Given the description of an element on the screen output the (x, y) to click on. 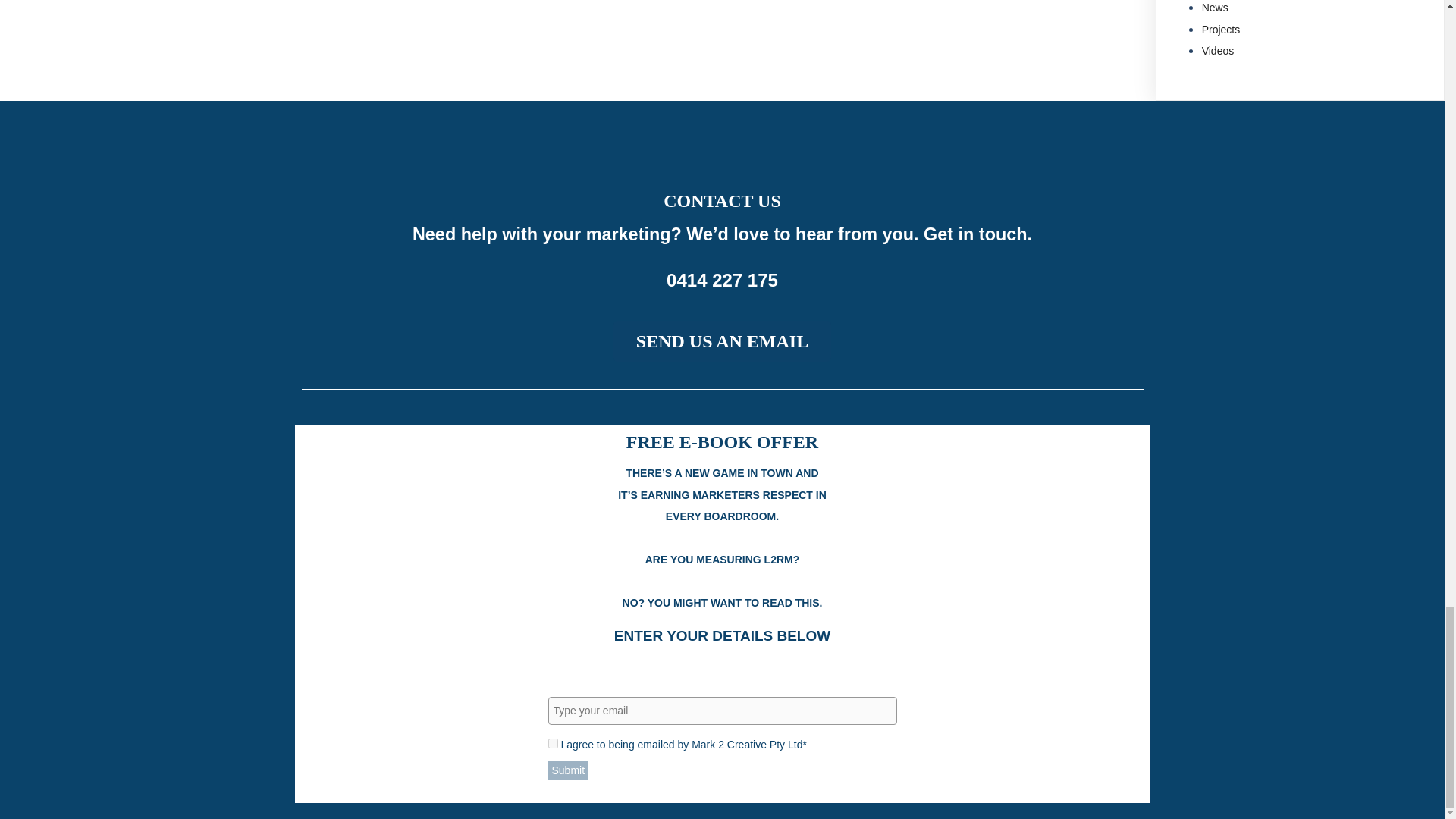
I agree to being emailed by Mark 2 Creative Pty Ltd (552, 743)
